Given the description of an element on the screen output the (x, y) to click on. 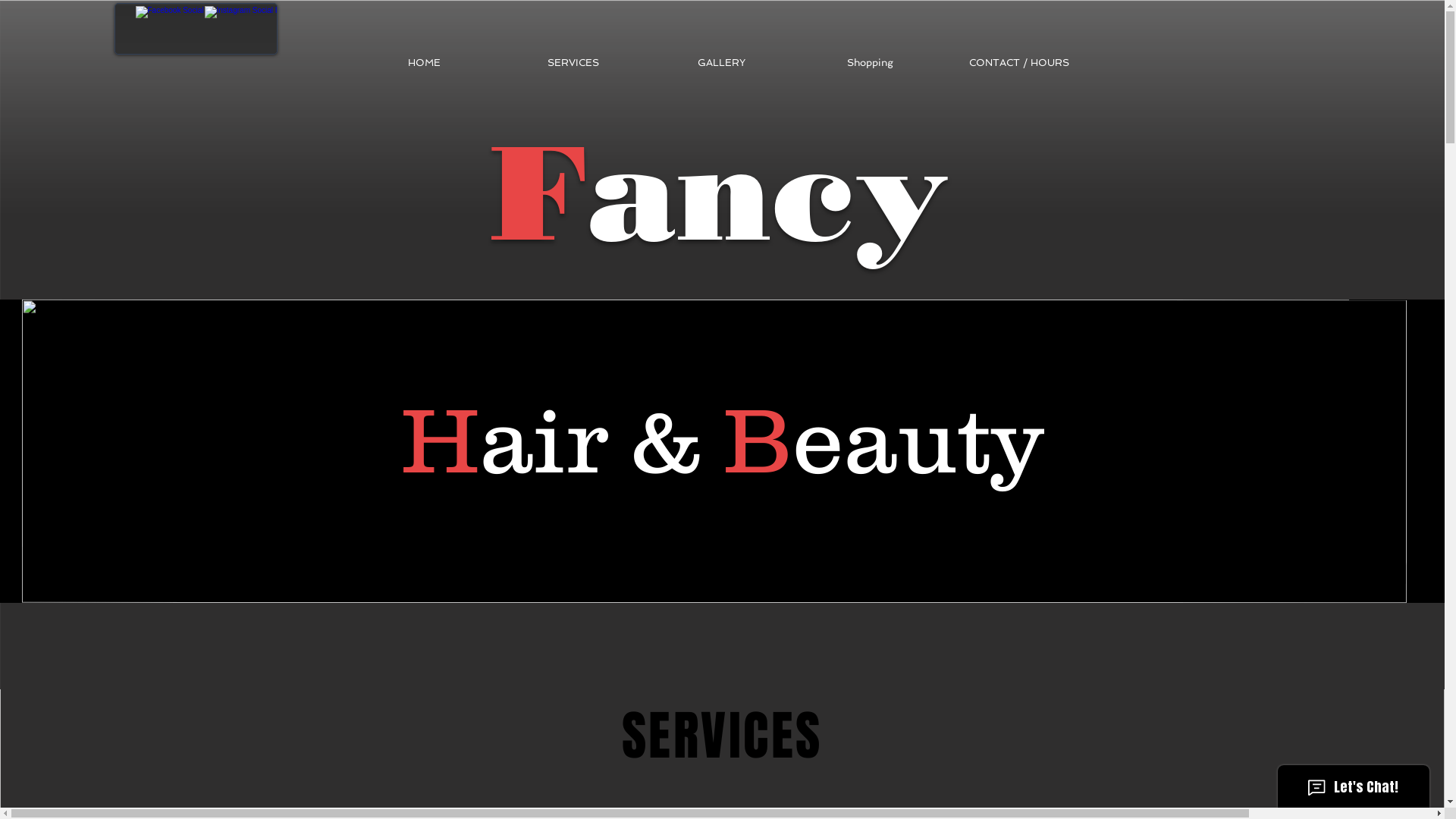
SERVICES Element type: text (572, 62)
CONTACT / HOURS Element type: text (1018, 62)
Shopping Element type: text (870, 62)
Fancy Element type: text (720, 192)
Wix Chat Element type: hover (1357, 782)
Hair & Beauty Element type: text (721, 439)
HOME Element type: text (424, 62)
GALLERY Element type: text (721, 62)
